Given the description of an element on the screen output the (x, y) to click on. 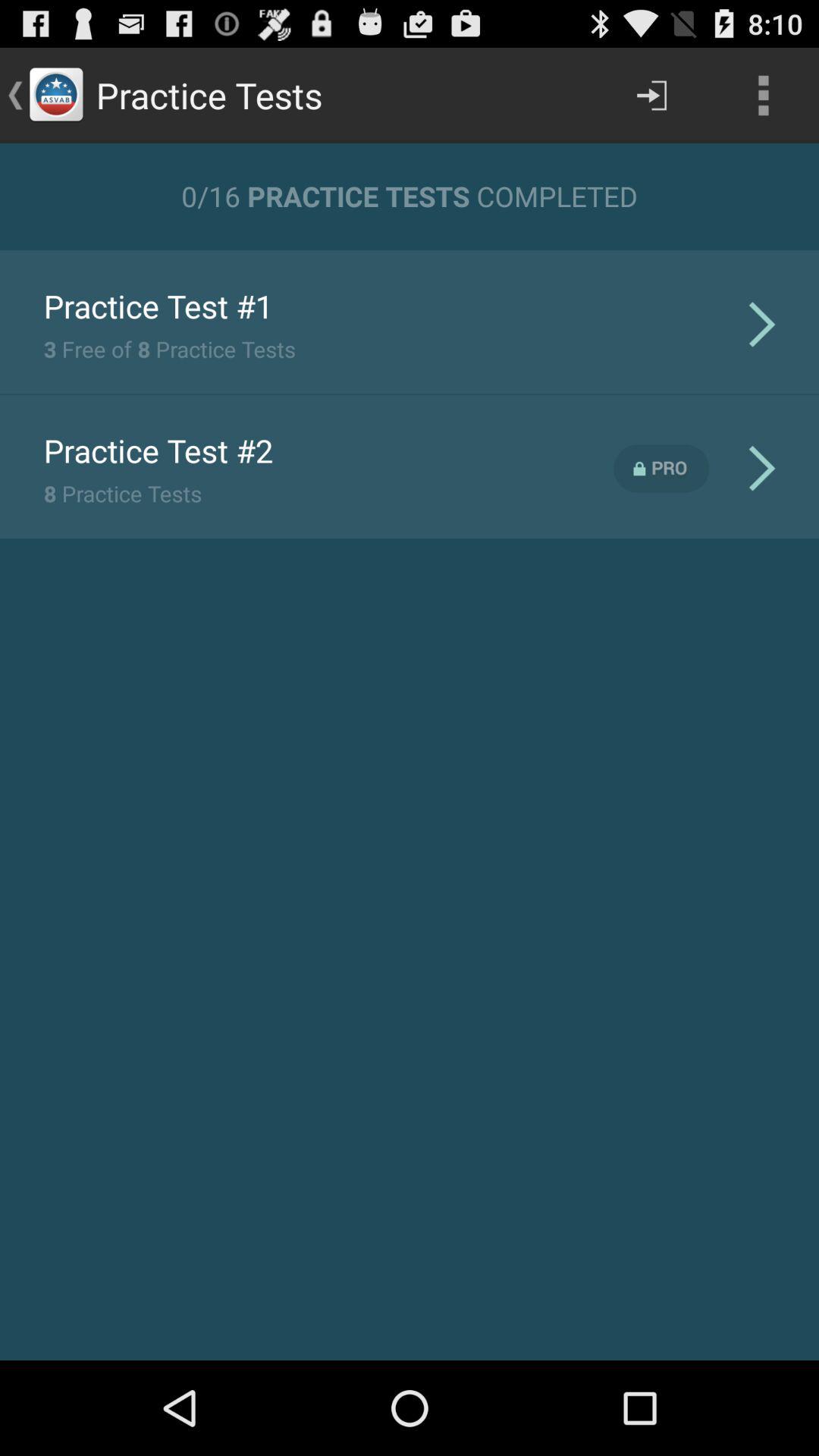
open the item next to practice tests app (651, 95)
